Given the description of an element on the screen output the (x, y) to click on. 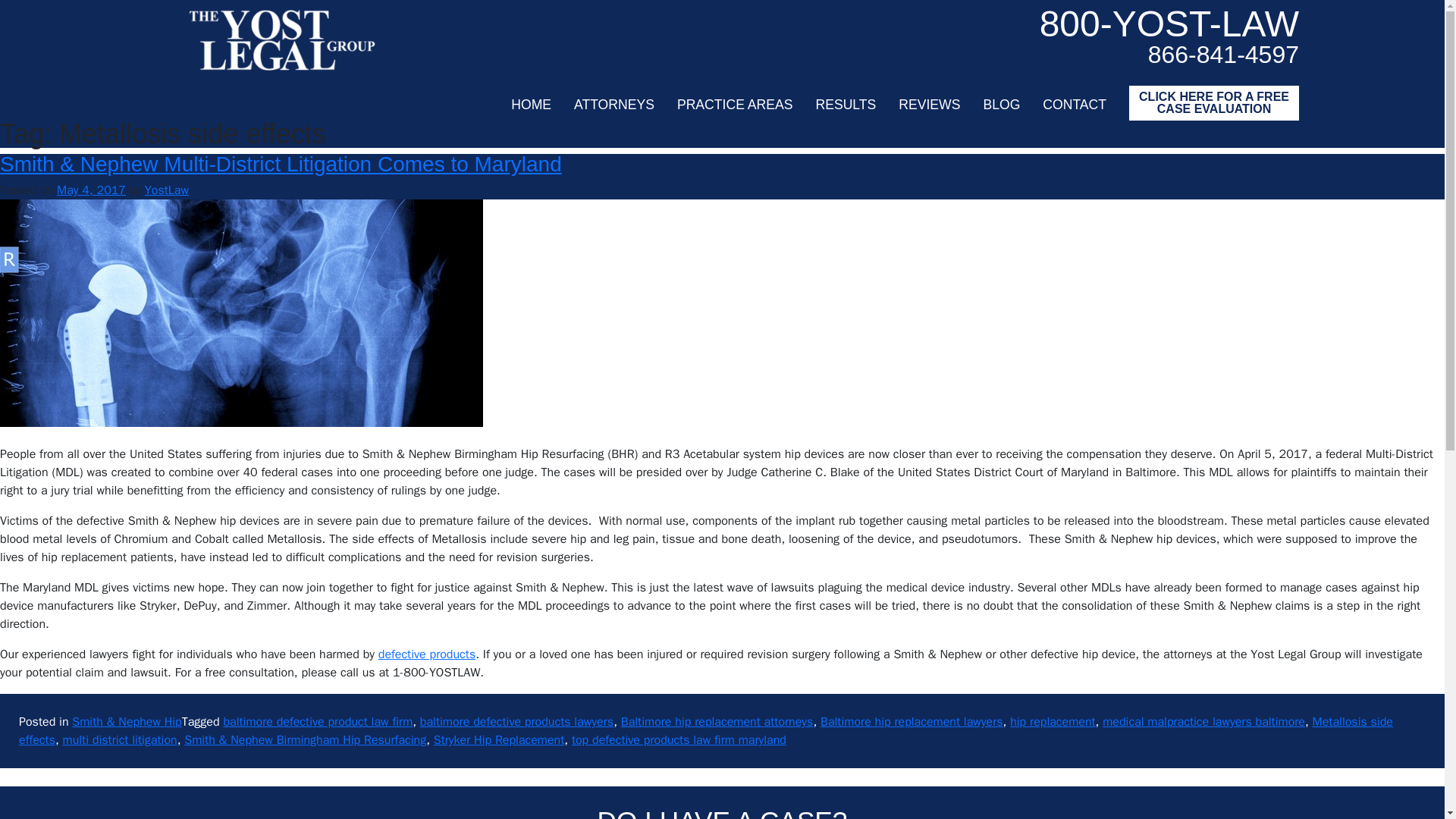
PRACTICE AREAS (735, 104)
HOME (531, 104)
800-YOST-LAW (1168, 23)
ATTORNEYS (613, 104)
866-841-4597 (1168, 54)
